Given the description of an element on the screen output the (x, y) to click on. 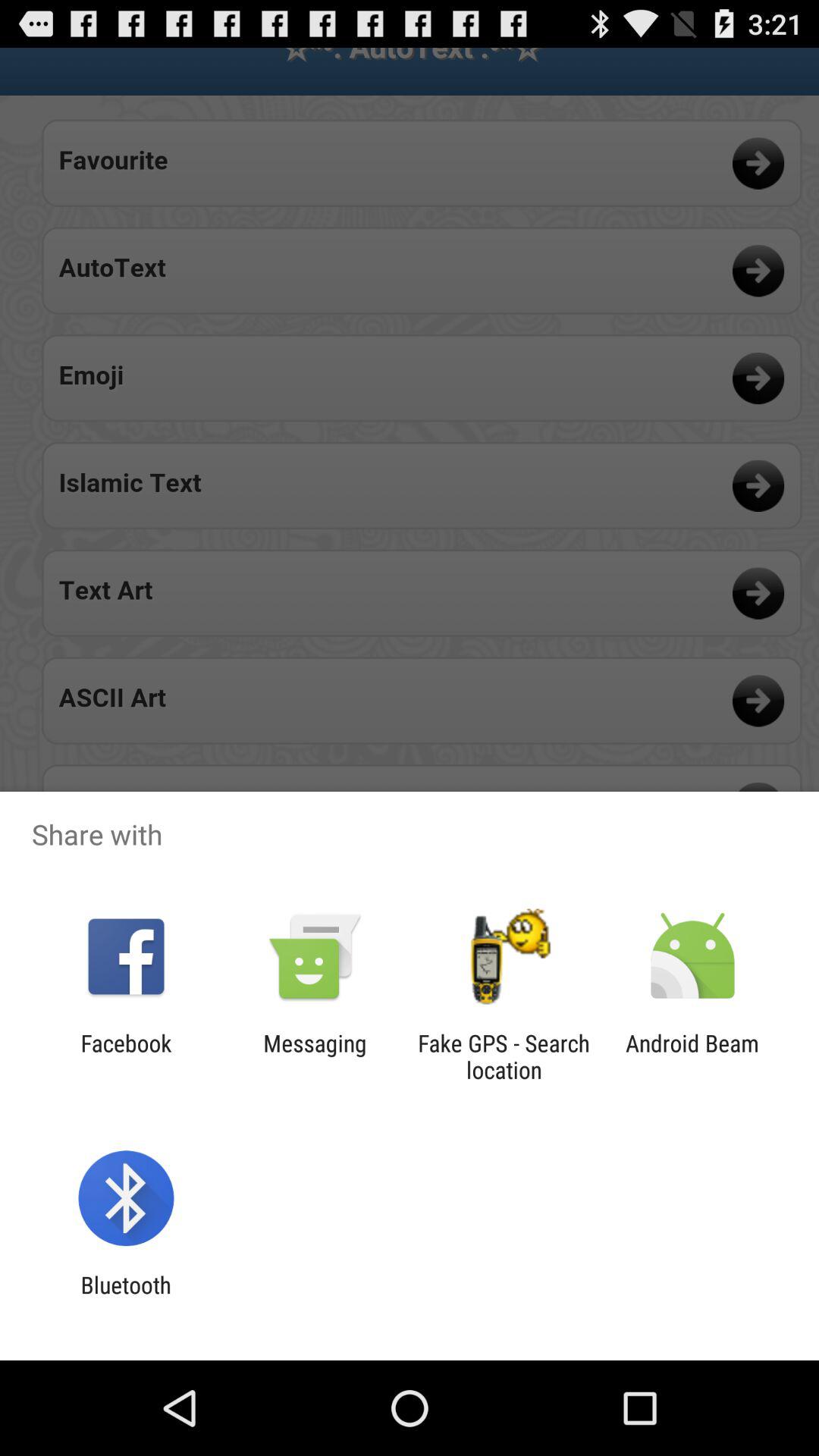
open the item to the right of messaging item (503, 1056)
